Given the description of an element on the screen output the (x, y) to click on. 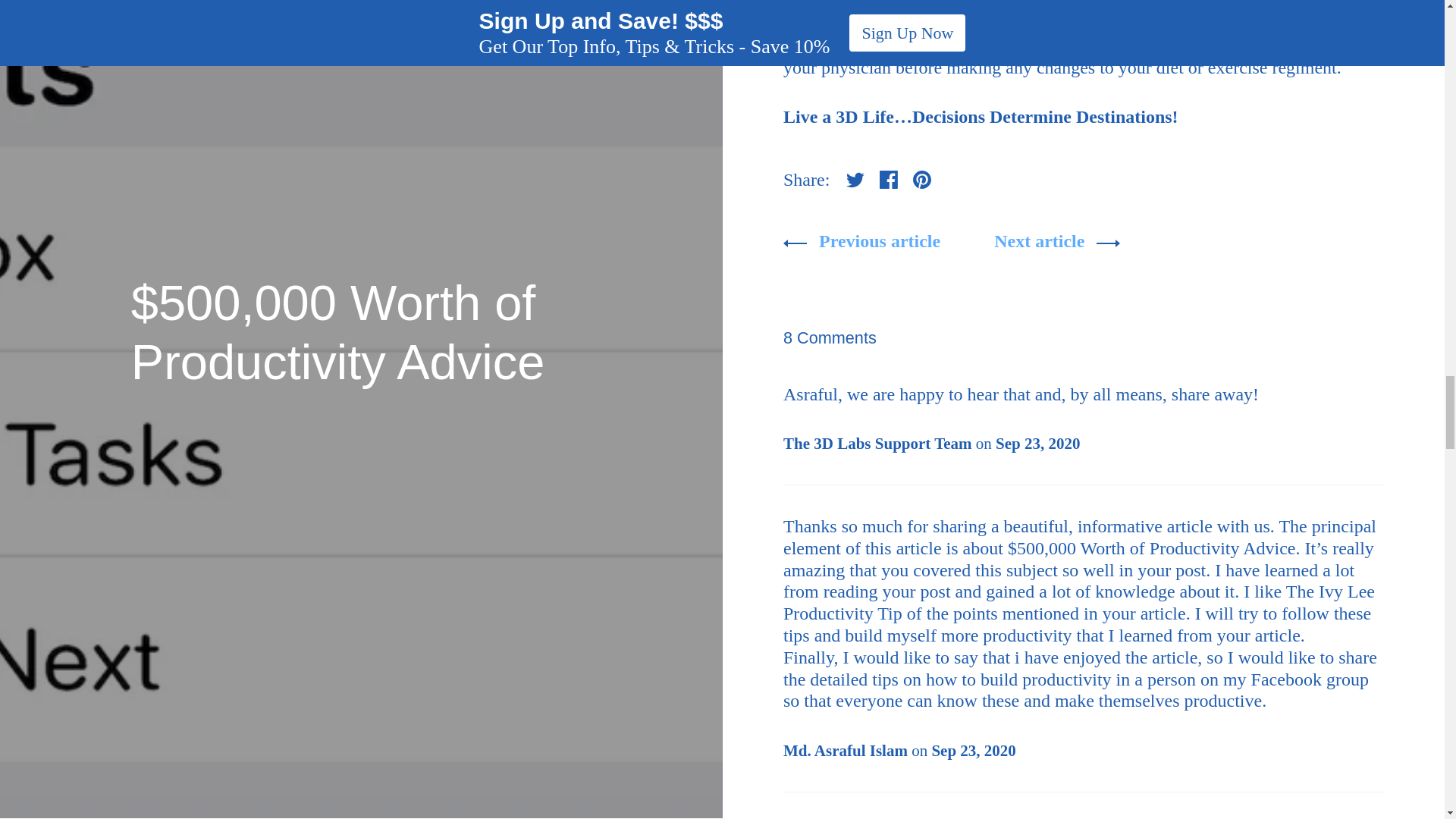
Share on facebook (888, 179)
Share on facebook (888, 179)
Share on twitter (855, 179)
Share on twitter (855, 179)
supplement (1281, 6)
Share on pinterest (922, 179)
